Given the description of an element on the screen output the (x, y) to click on. 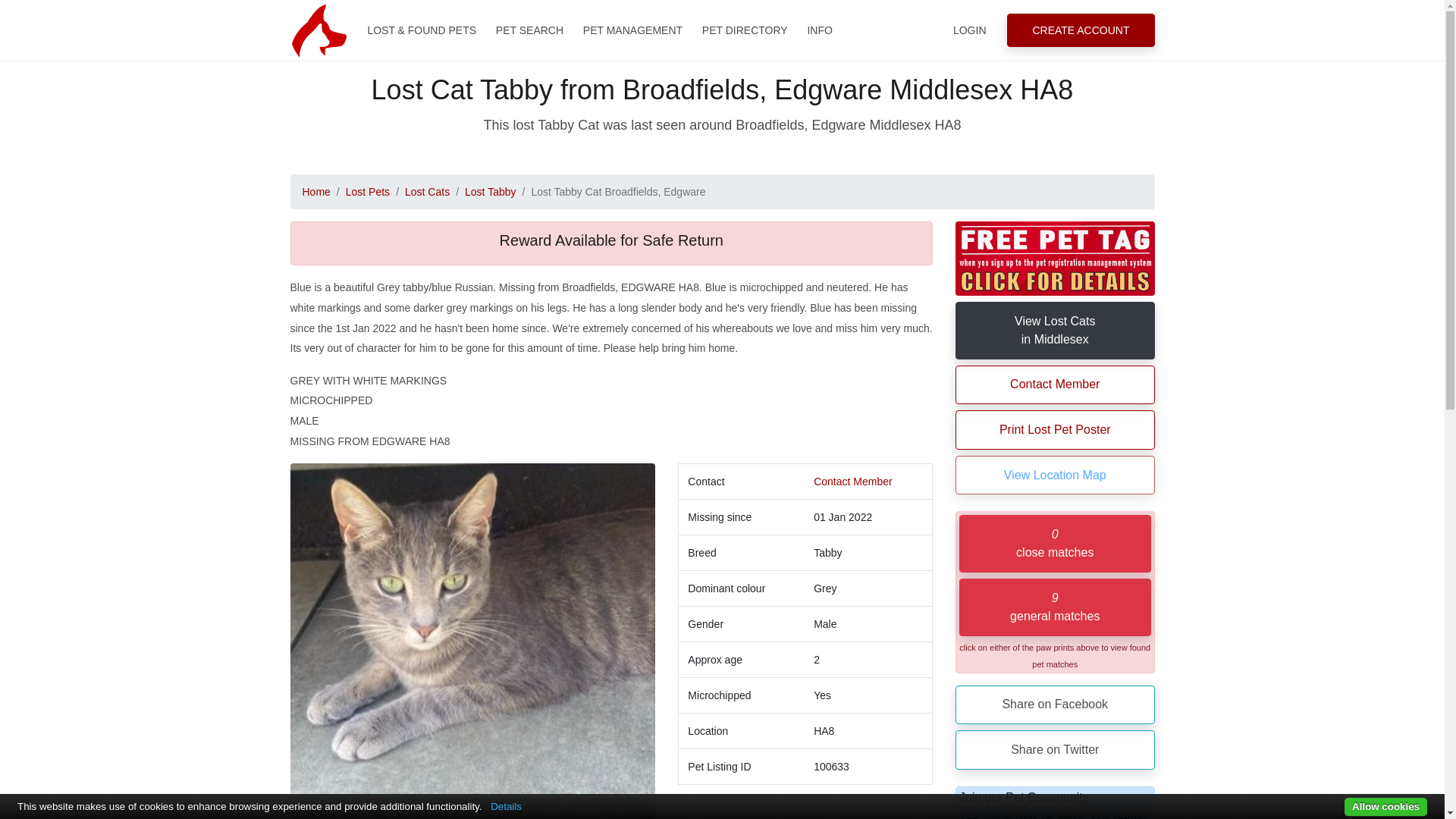
share on FaceBook (1054, 704)
PET MANAGEMENT (632, 30)
Post to Twiiter (1054, 749)
PET SEARCH (529, 30)
Lost Cats (426, 191)
Lost Pets (368, 191)
CREATE ACCOUNT (1080, 29)
Lost Tabby (489, 191)
Home (315, 191)
Missing Cat Tabbys in Broadfields, Edgware (472, 641)
PET DIRECTORY (744, 30)
Contact Member (852, 481)
National Pet Register (317, 30)
